Given the description of an element on the screen output the (x, y) to click on. 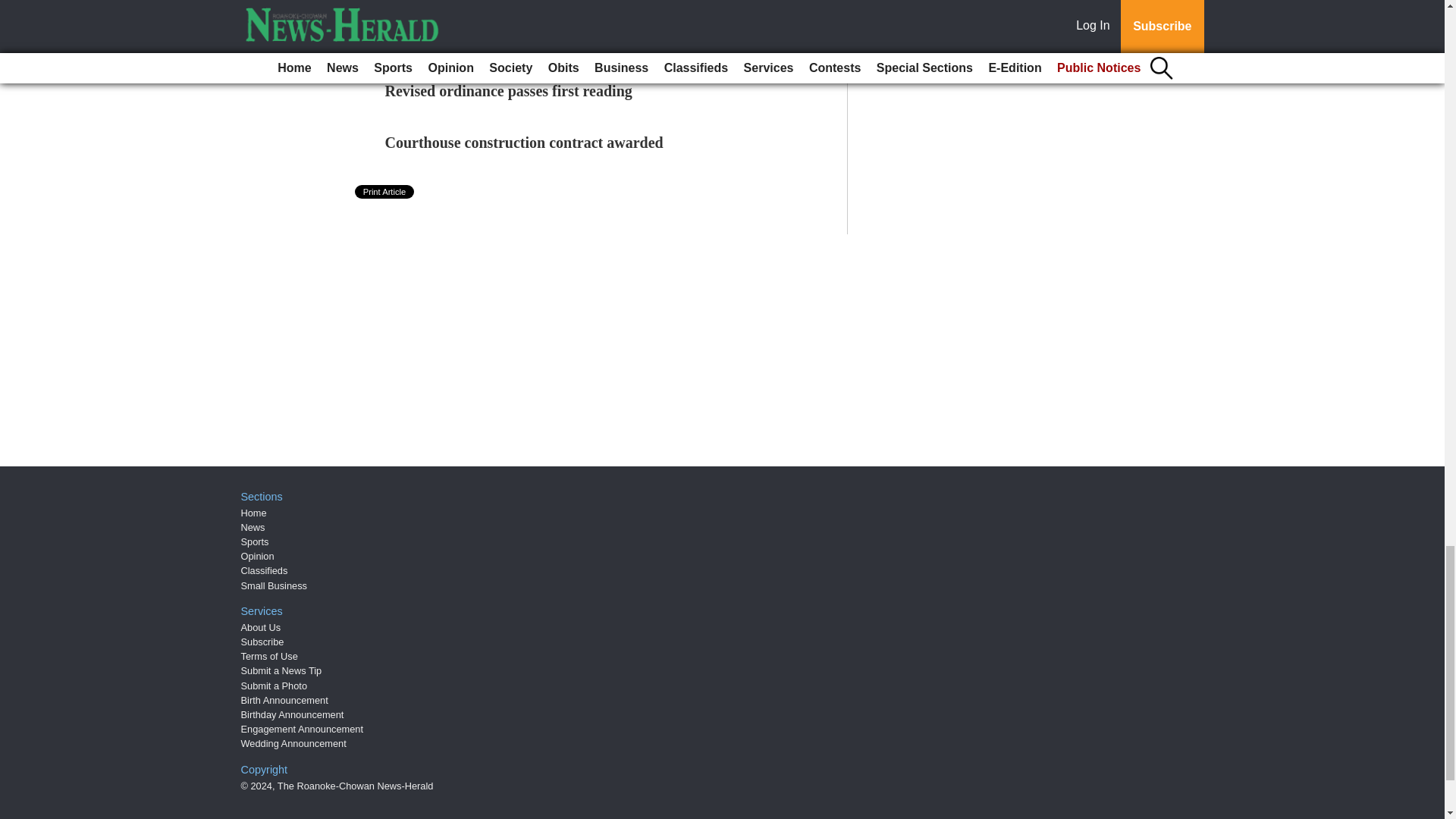
Northampton DSS workers disgruntled with pay raise (560, 39)
Revised ordinance passes first reading (508, 90)
Print Article (384, 192)
Revised ordinance passes first reading (508, 90)
Northampton DSS workers disgruntled with pay raise (560, 39)
Courthouse construction contract awarded (524, 142)
Courthouse construction contract awarded (524, 142)
